Given the description of an element on the screen output the (x, y) to click on. 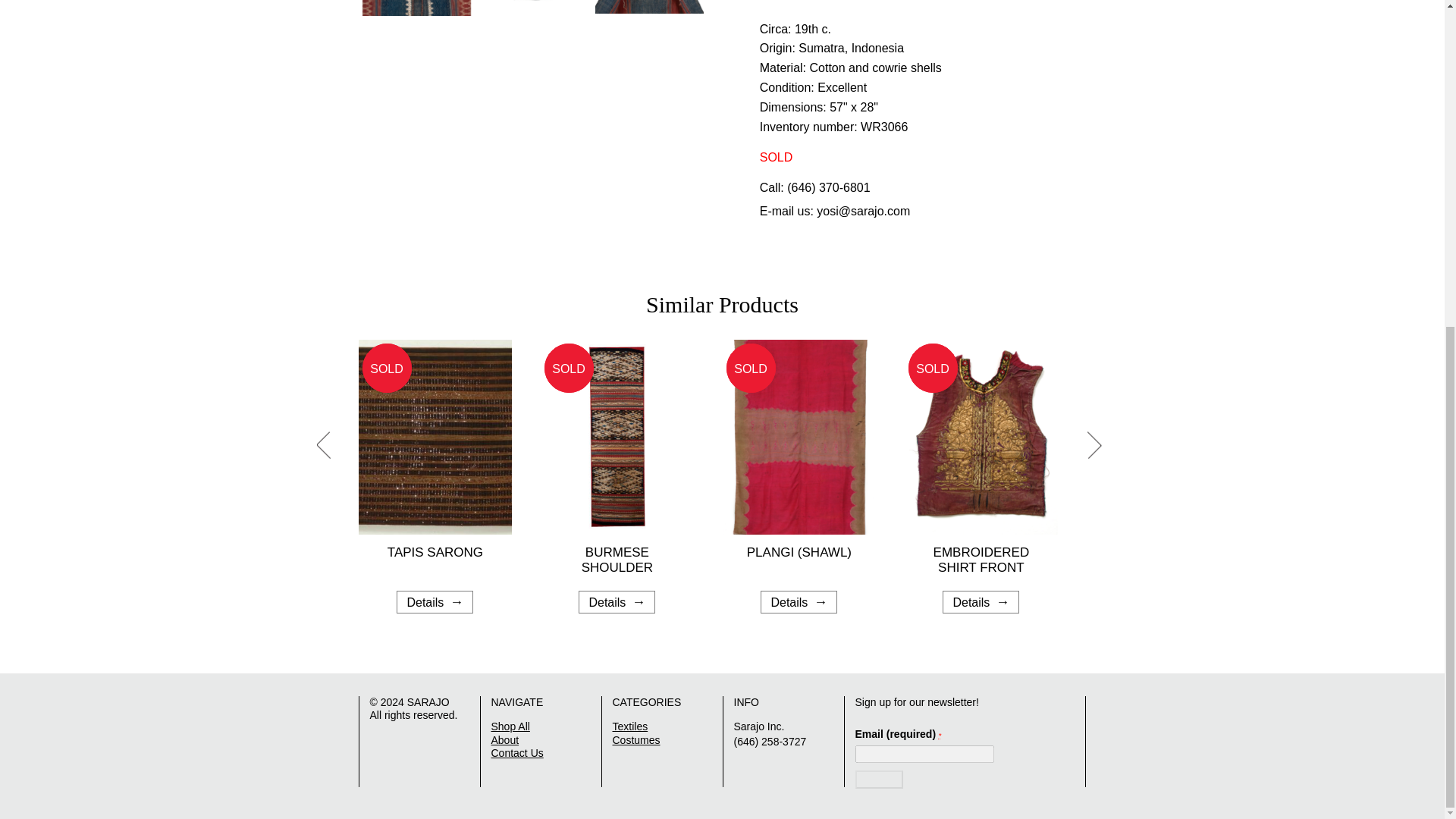
WR3066-3-2 (765, 9)
WR3066-4-2 (532, 5)
WR3066-2-2 (416, 23)
WR3066-5-2 (649, 9)
Sign up (879, 779)
